Given the description of an element on the screen output the (x, y) to click on. 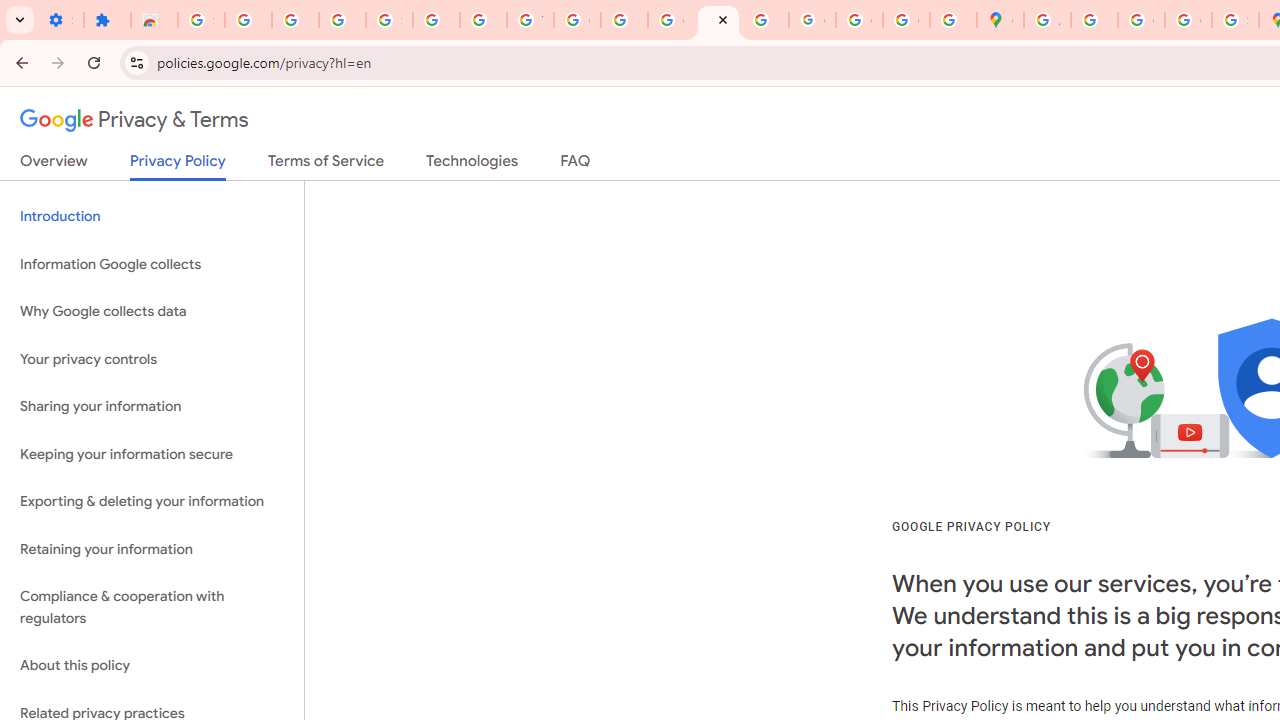
Reviews: Helix Fruit Jump Arcade Game (153, 20)
Your privacy controls (152, 358)
Extensions (107, 20)
Compliance & cooperation with regulators (152, 607)
Exporting & deleting your information (152, 502)
Retaining your information (152, 548)
Sharing your information (152, 407)
